Given the description of an element on the screen output the (x, y) to click on. 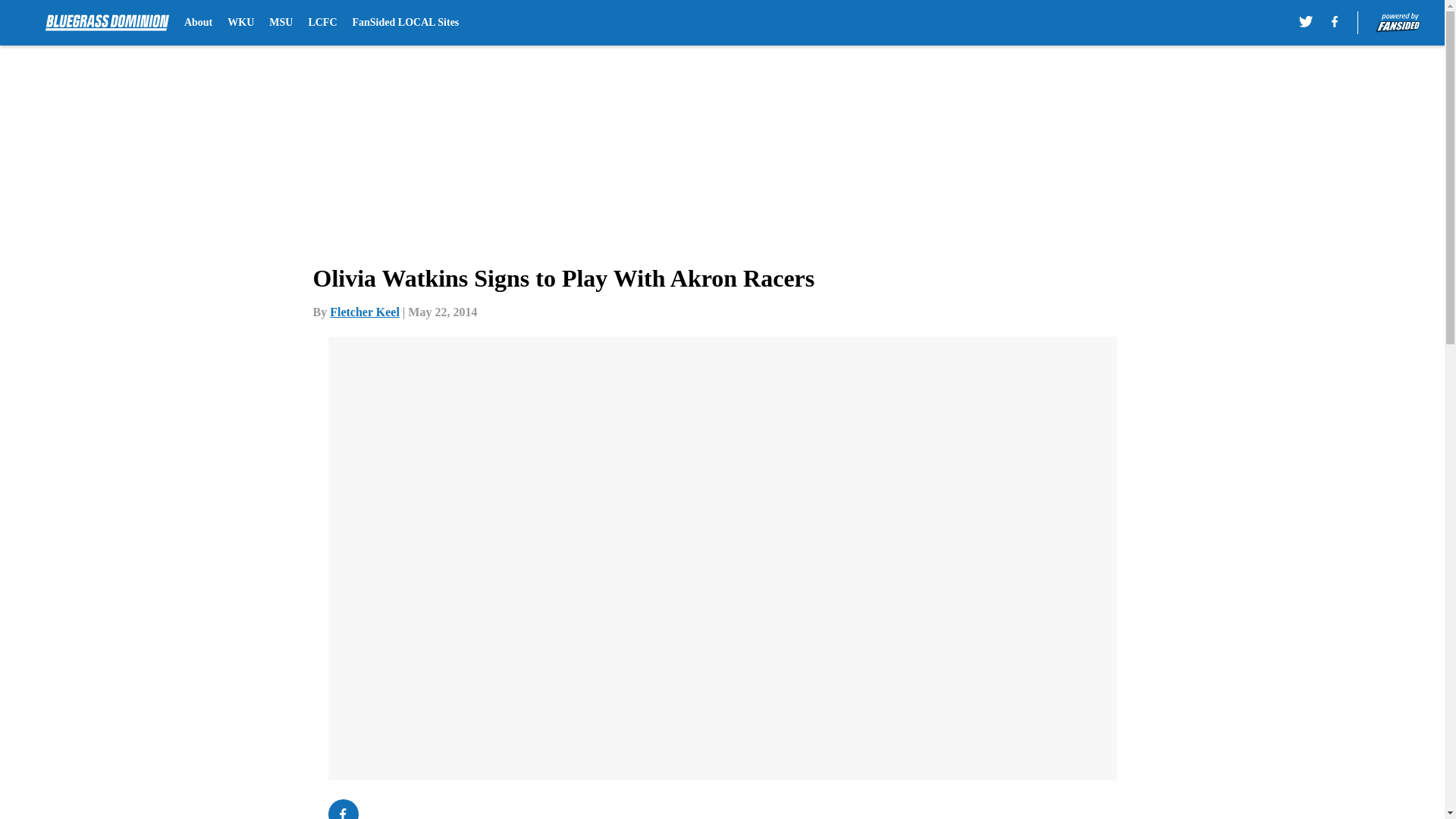
FanSided LOCAL Sites (405, 22)
LCFC (321, 22)
About (198, 22)
WKU (240, 22)
Fletcher Keel (364, 311)
MSU (280, 22)
